Given the description of an element on the screen output the (x, y) to click on. 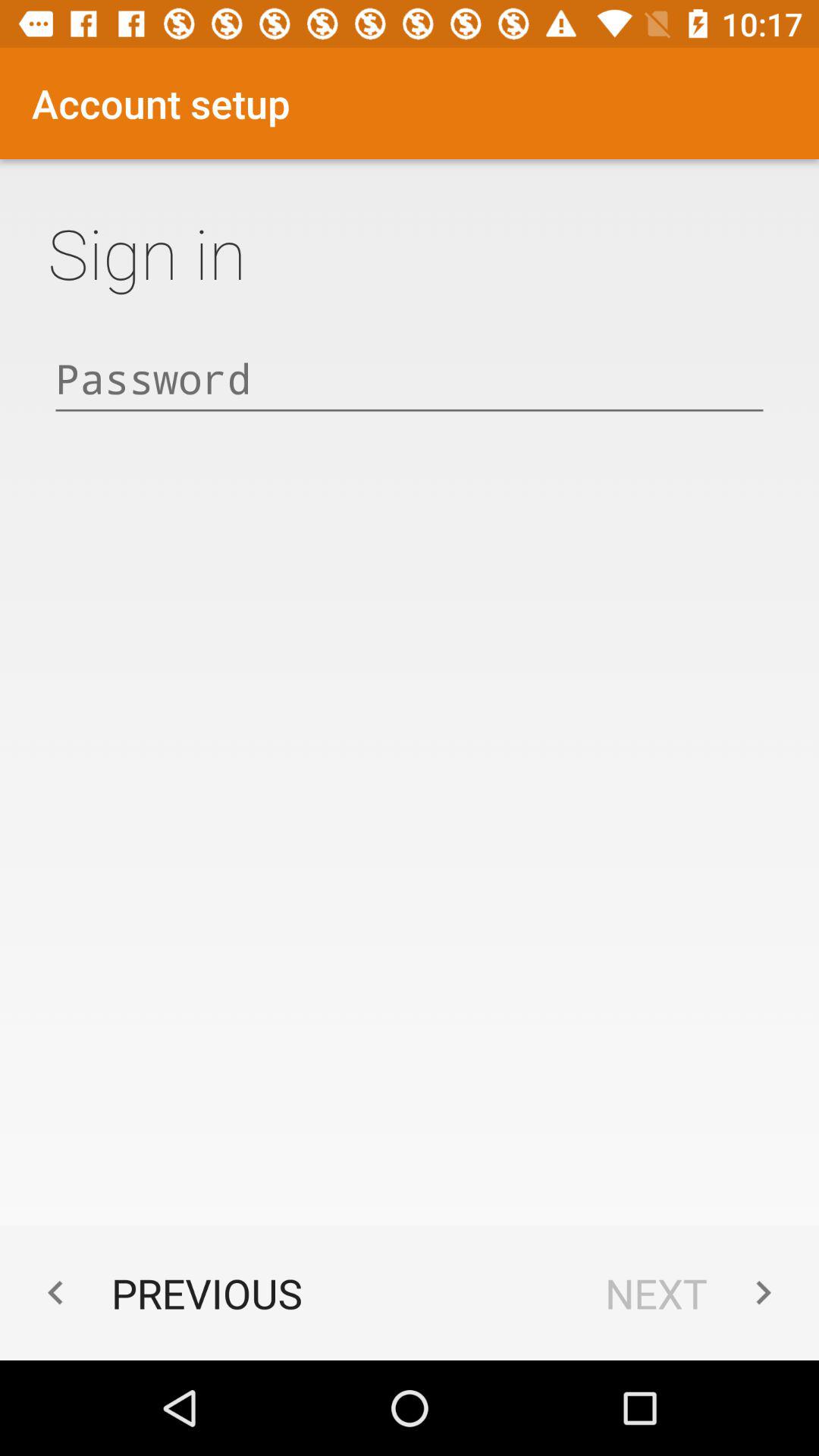
turn off the app next to the previous app (696, 1292)
